Given the description of an element on the screen output the (x, y) to click on. 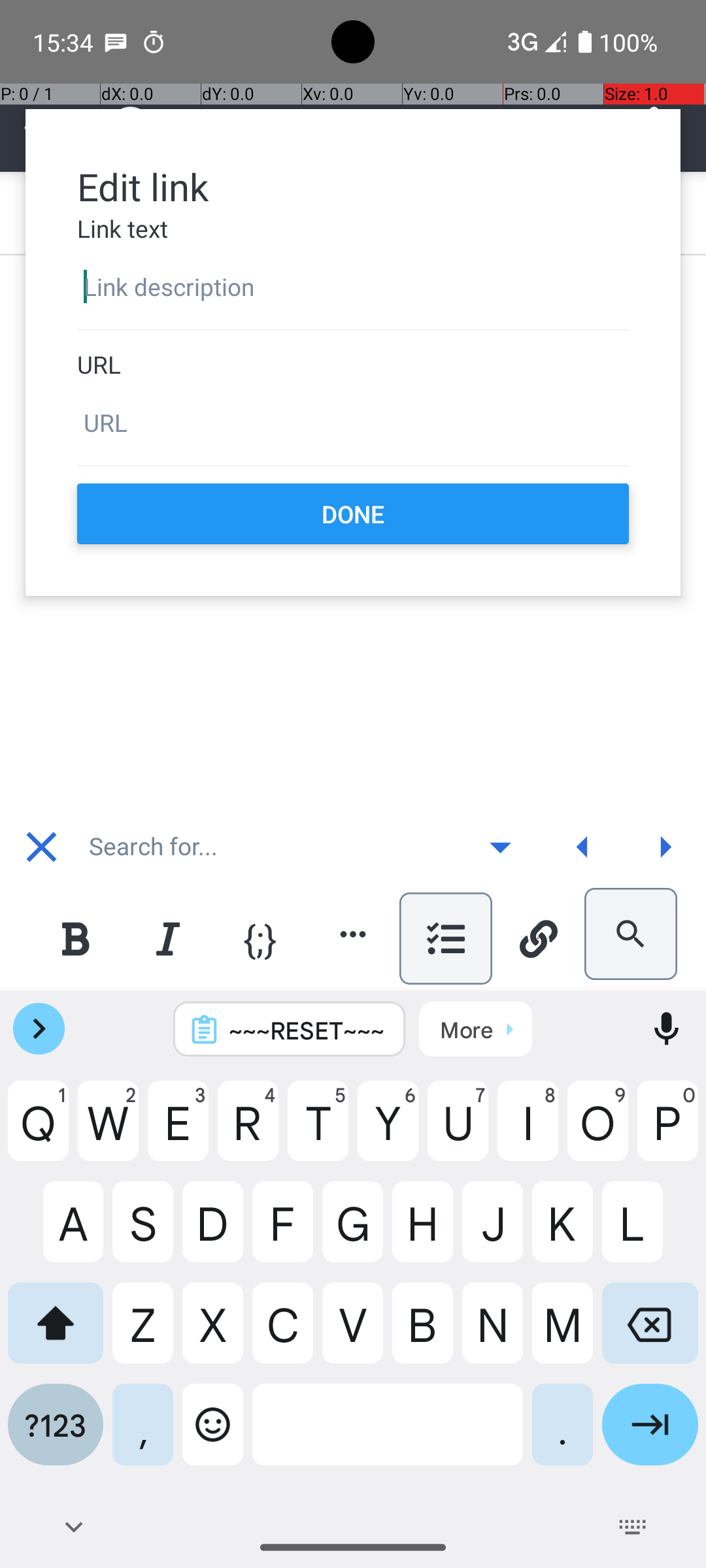
Edit link Element type: android.widget.TextView (352, 185)
Link text Element type: android.widget.TextView (352, 228)
Link description Element type: android.widget.EditText (352, 287)
URL Element type: android.widget.TextView (352, 363)
DONE Element type: android.widget.TextView (352, 513)
~~~RESET~~~ Element type: android.widget.TextView (306, 1029)
